Given the description of an element on the screen output the (x, y) to click on. 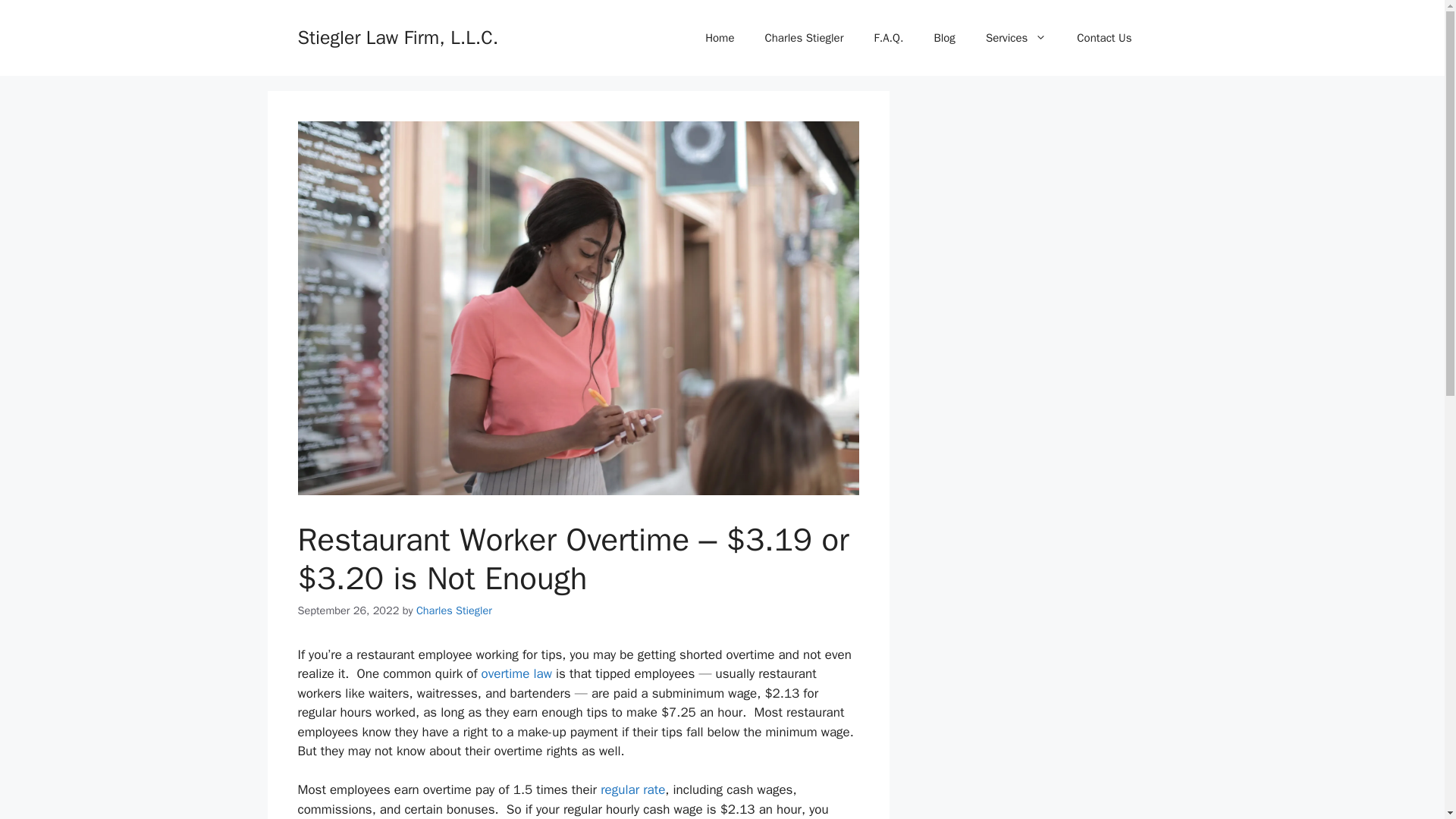
Charles Stiegler (454, 610)
overtime law (516, 673)
F.A.Q. (888, 37)
Blog (943, 37)
Stiegler Law Firm, L.L.C. (397, 37)
Home (719, 37)
View all posts by Charles Stiegler (454, 610)
Services (1016, 37)
regular rate (632, 789)
Contact Us (1104, 37)
